Given the description of an element on the screen output the (x, y) to click on. 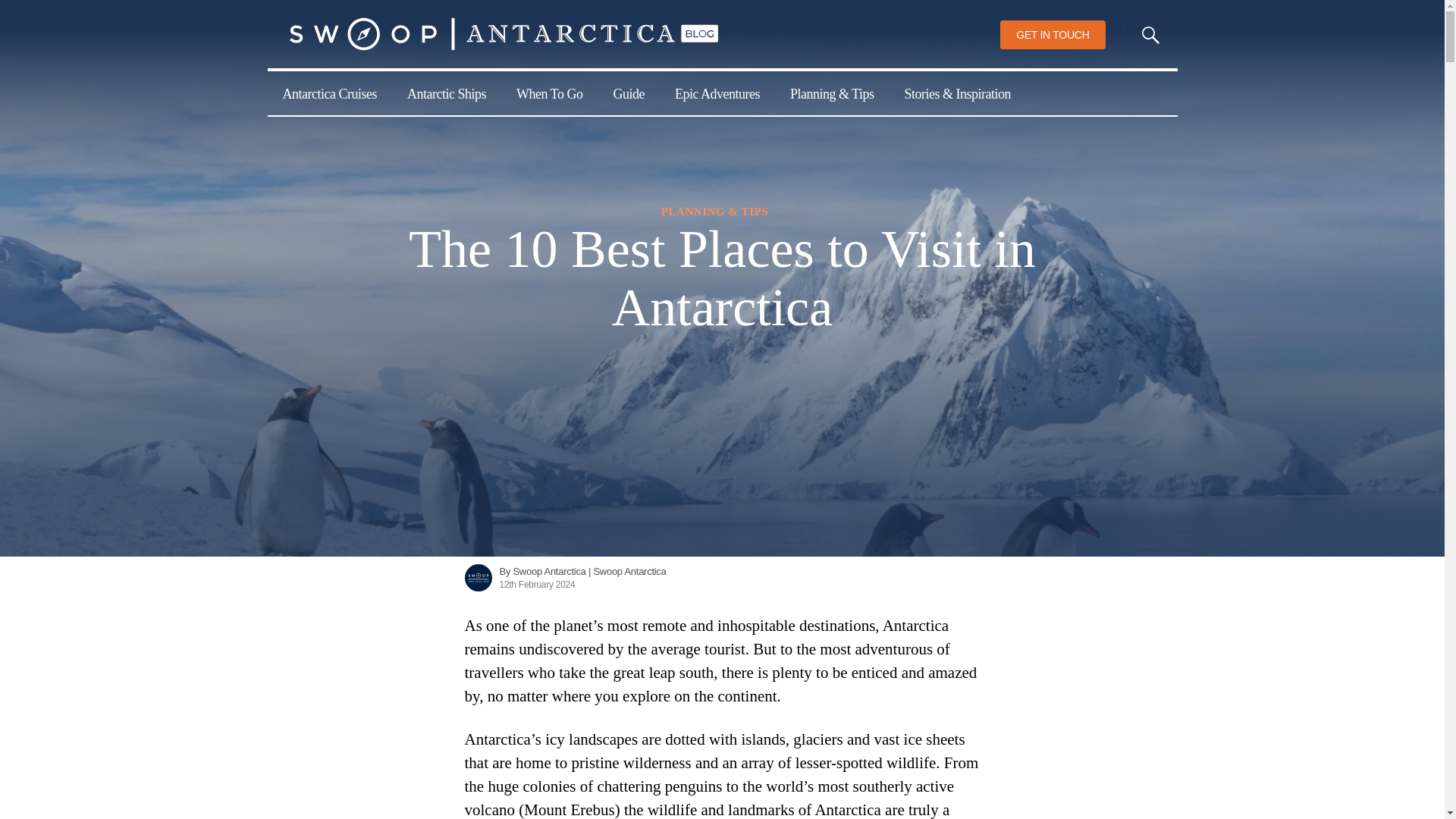
Guide (627, 93)
Epic Adventures (716, 93)
GET IN TOUCH (1052, 34)
Antarctica Cruises (328, 93)
Antarctic Ships (445, 93)
When To Go (548, 93)
